Given the description of an element on the screen output the (x, y) to click on. 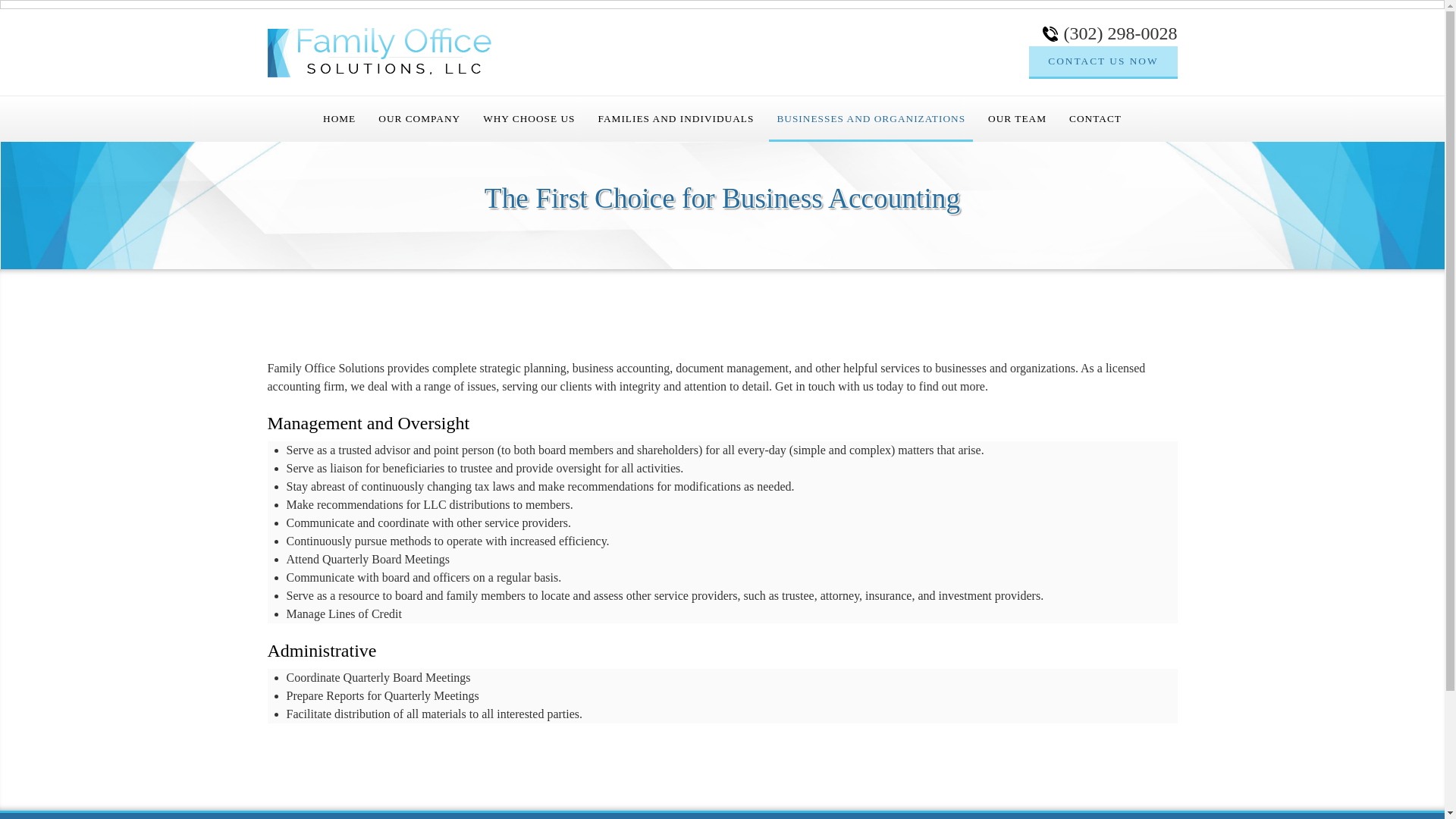
OUR COMPANY (419, 118)
Family Office Solutions, LLC (378, 51)
HOME (338, 118)
CONTACT US NOW (1102, 60)
WHY CHOOSE US (529, 118)
OUR TEAM (1016, 118)
BUSINESSES AND ORGANIZATIONS (870, 118)
CONTACT (1095, 118)
FAMILIES AND INDIVIDUALS (676, 118)
